Given the description of an element on the screen output the (x, y) to click on. 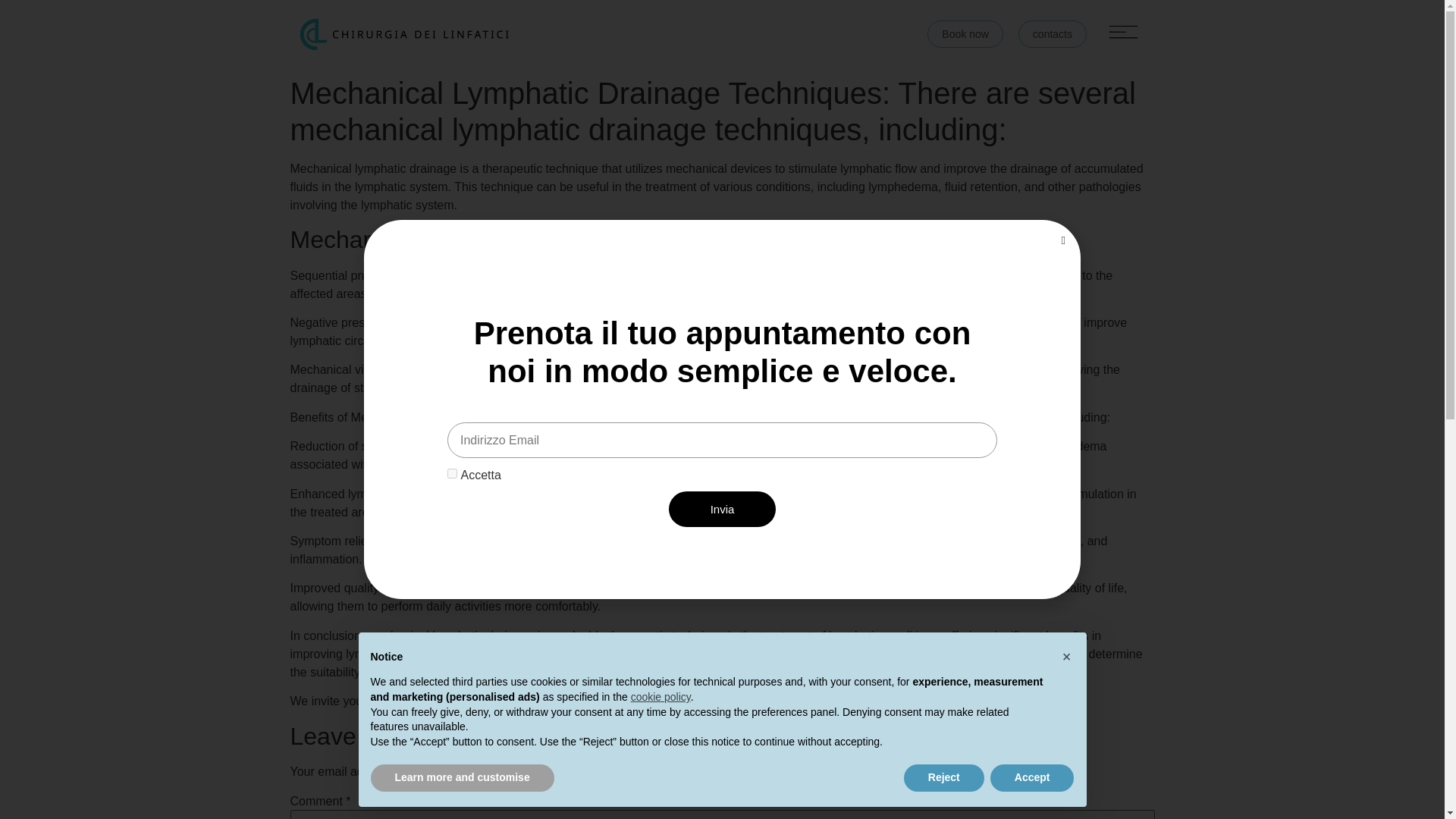
contacts (1051, 33)
Invia (722, 509)
Book now (965, 33)
Lymphaticsrgery (521, 700)
cookie policy (660, 696)
on (451, 473)
